Given the description of an element on the screen output the (x, y) to click on. 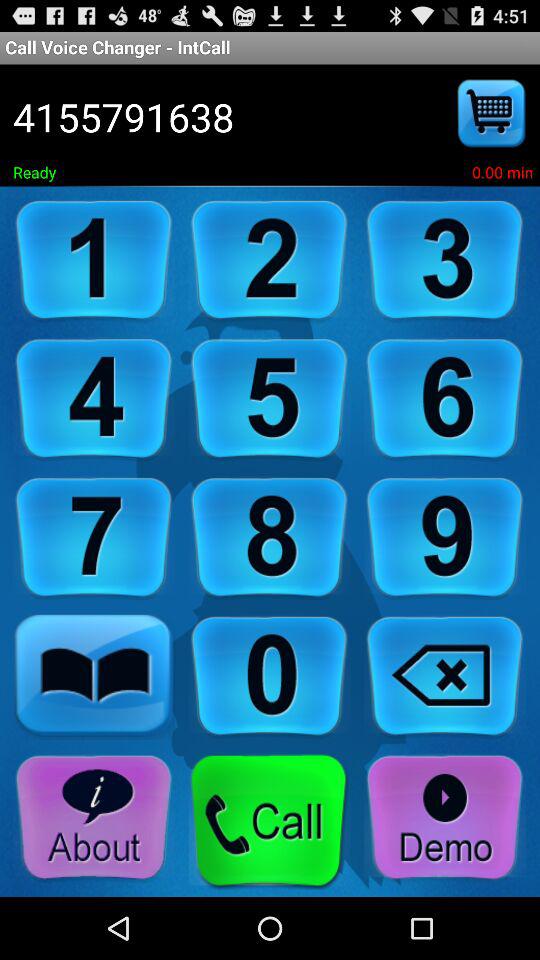
connects to a phone call (269, 821)
